Given the description of an element on the screen output the (x, y) to click on. 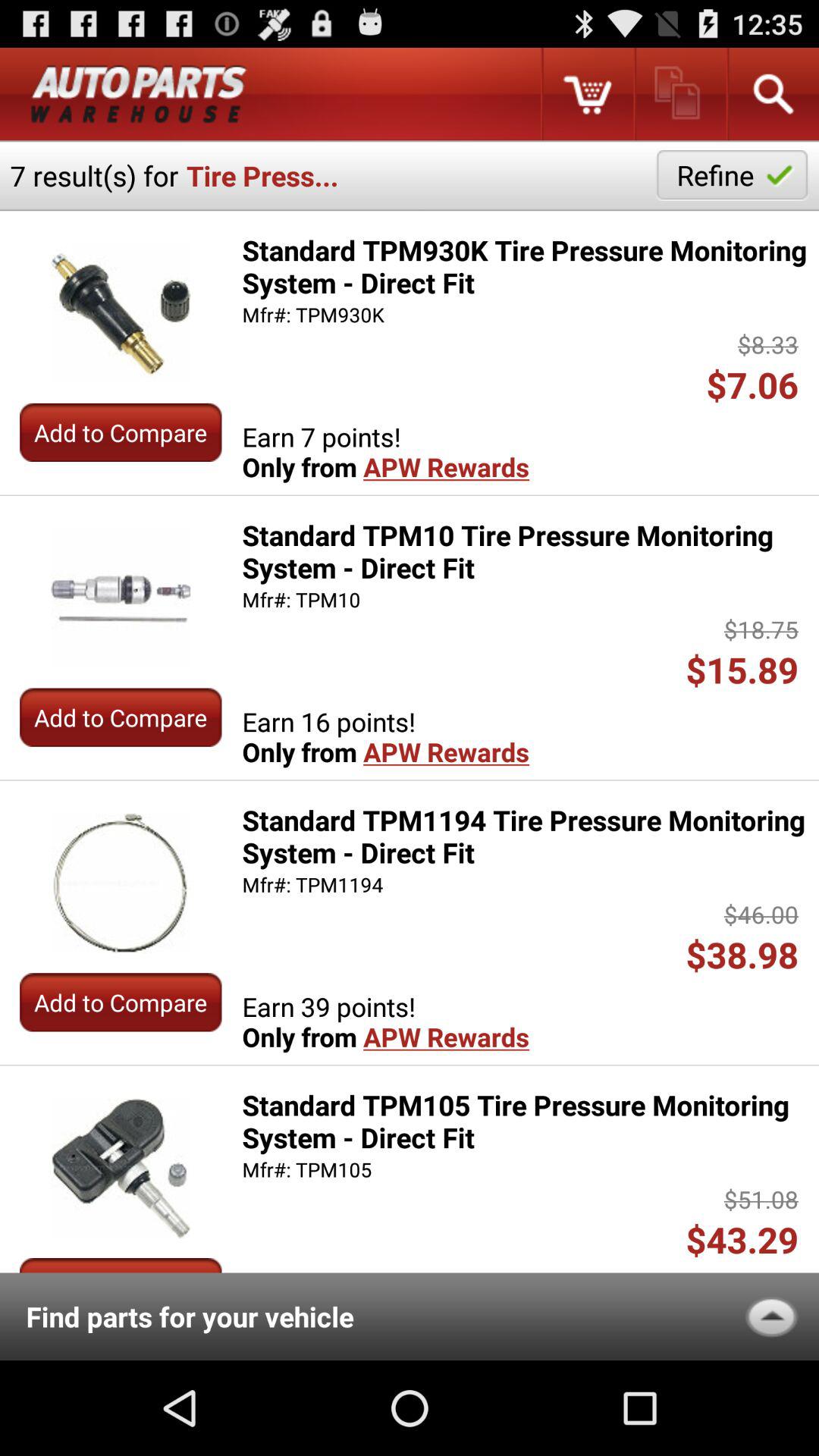
search auto parts (772, 93)
